Given the description of an element on the screen output the (x, y) to click on. 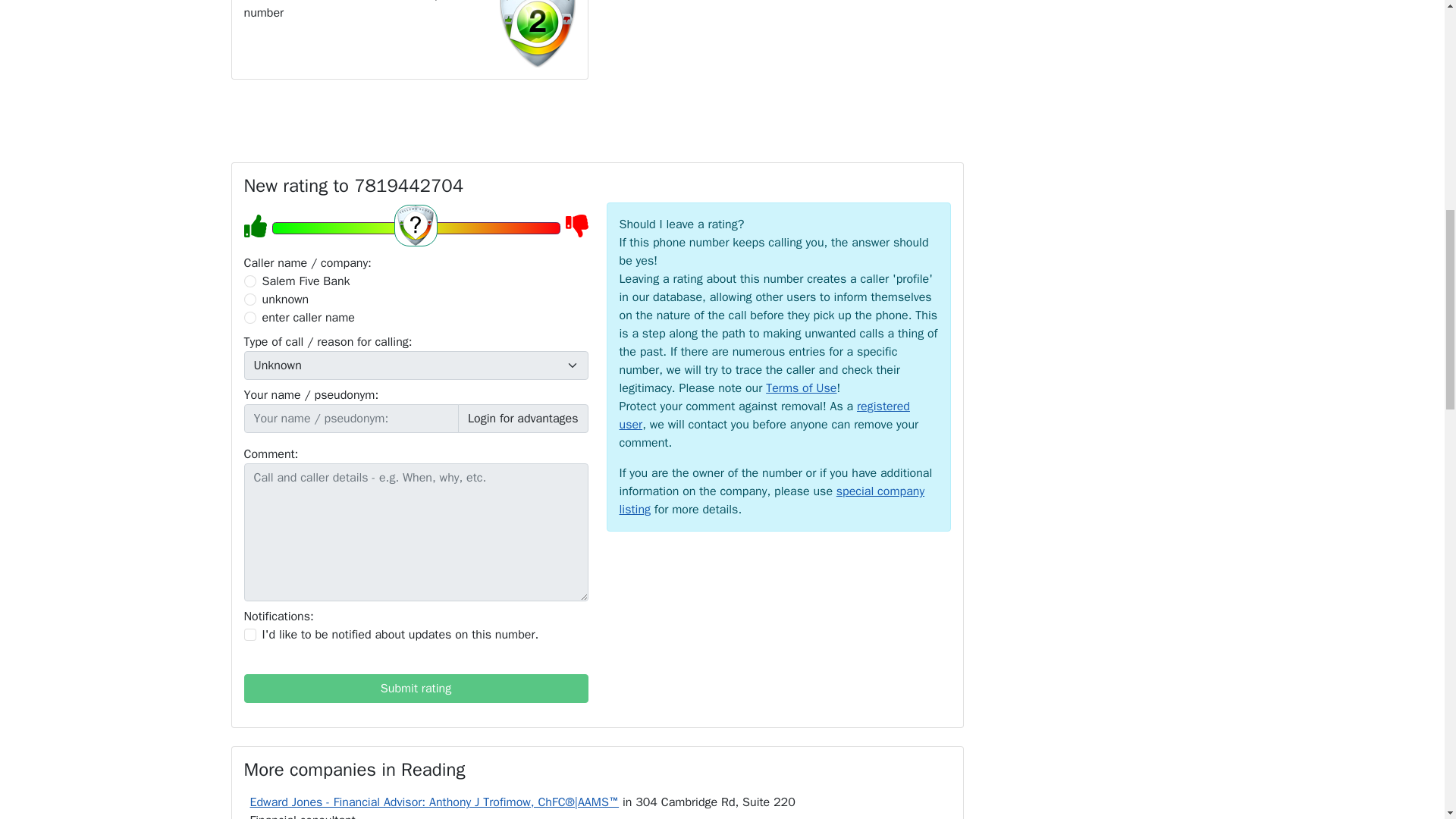
Terms of Use (800, 387)
Submit rating (416, 688)
5 (414, 228)
0 (250, 281)
3 (250, 317)
special company listing (771, 500)
registered user (763, 415)
2 (250, 299)
Login for advantages (523, 418)
Submit rating (416, 688)
1 (250, 634)
